Given the description of an element on the screen output the (x, y) to click on. 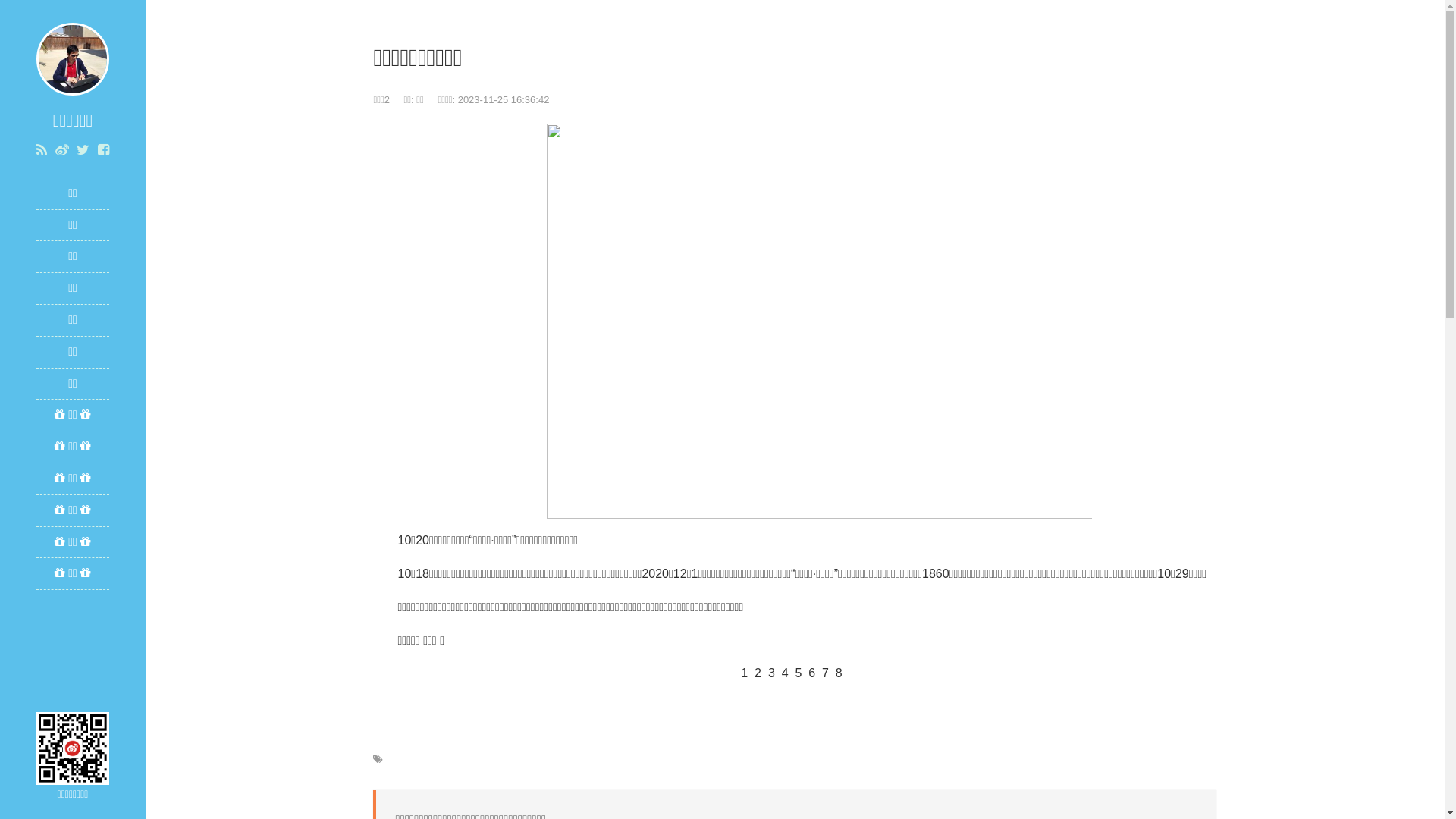
Twitter Element type: hover (82, 149)
Weibo Element type: hover (62, 149)
RSS Element type: hover (41, 149)
Facebook Element type: hover (103, 149)
